Given the description of an element on the screen output the (x, y) to click on. 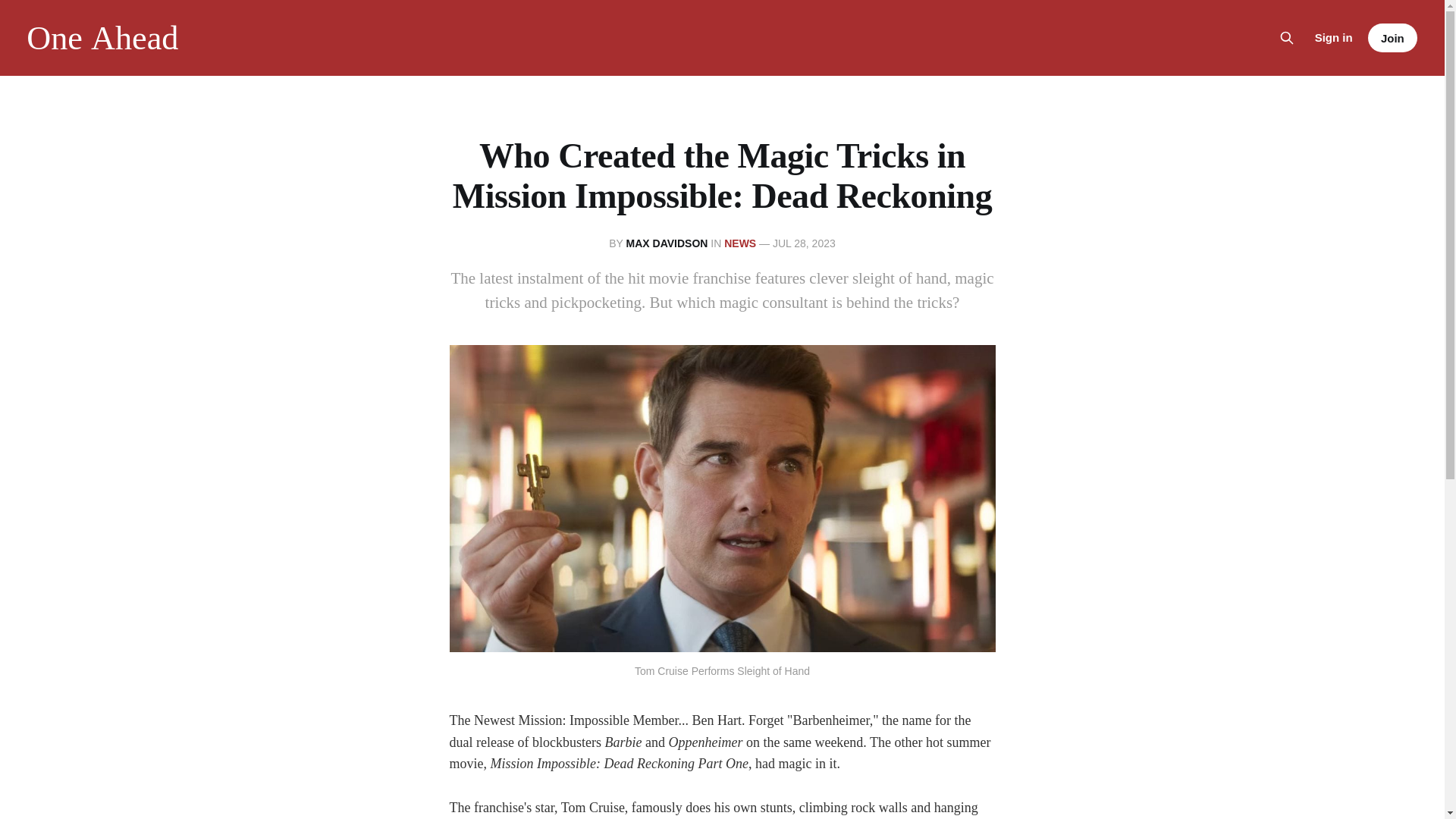
Sign in (1333, 37)
NEWS (739, 243)
Join (1392, 37)
MAX DAVIDSON (666, 243)
